Given the description of an element on the screen output the (x, y) to click on. 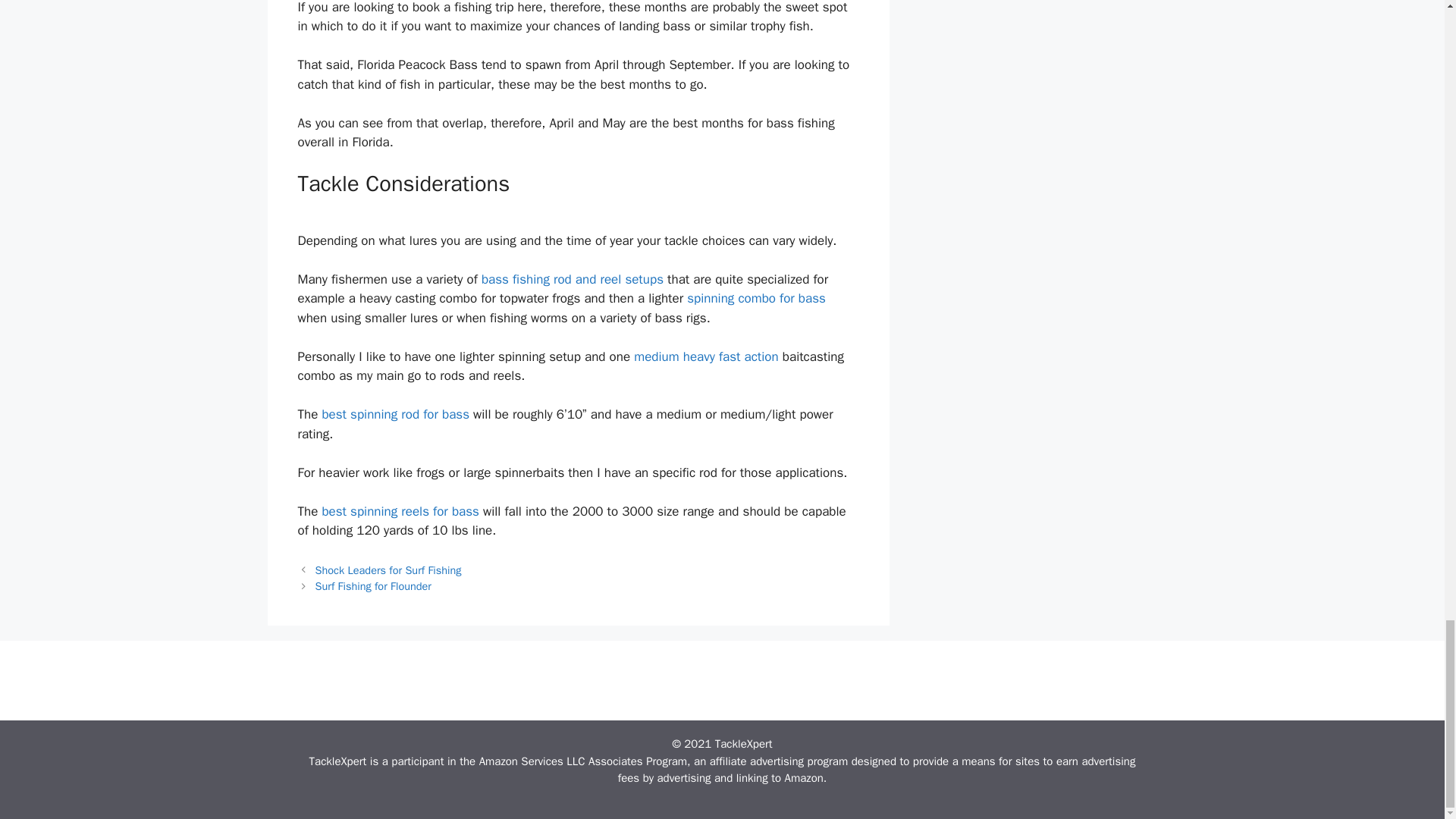
best spinning rod for bass (394, 414)
spinning combo for bass (756, 298)
medium heavy fast action (705, 356)
bass fishing rod and reel setups (572, 279)
Shock Leaders for Surf Fishing (388, 570)
Previous (388, 570)
best spinning reels for bass (400, 511)
Surf Fishing for Flounder (372, 585)
Next (372, 585)
